Given the description of an element on the screen output the (x, y) to click on. 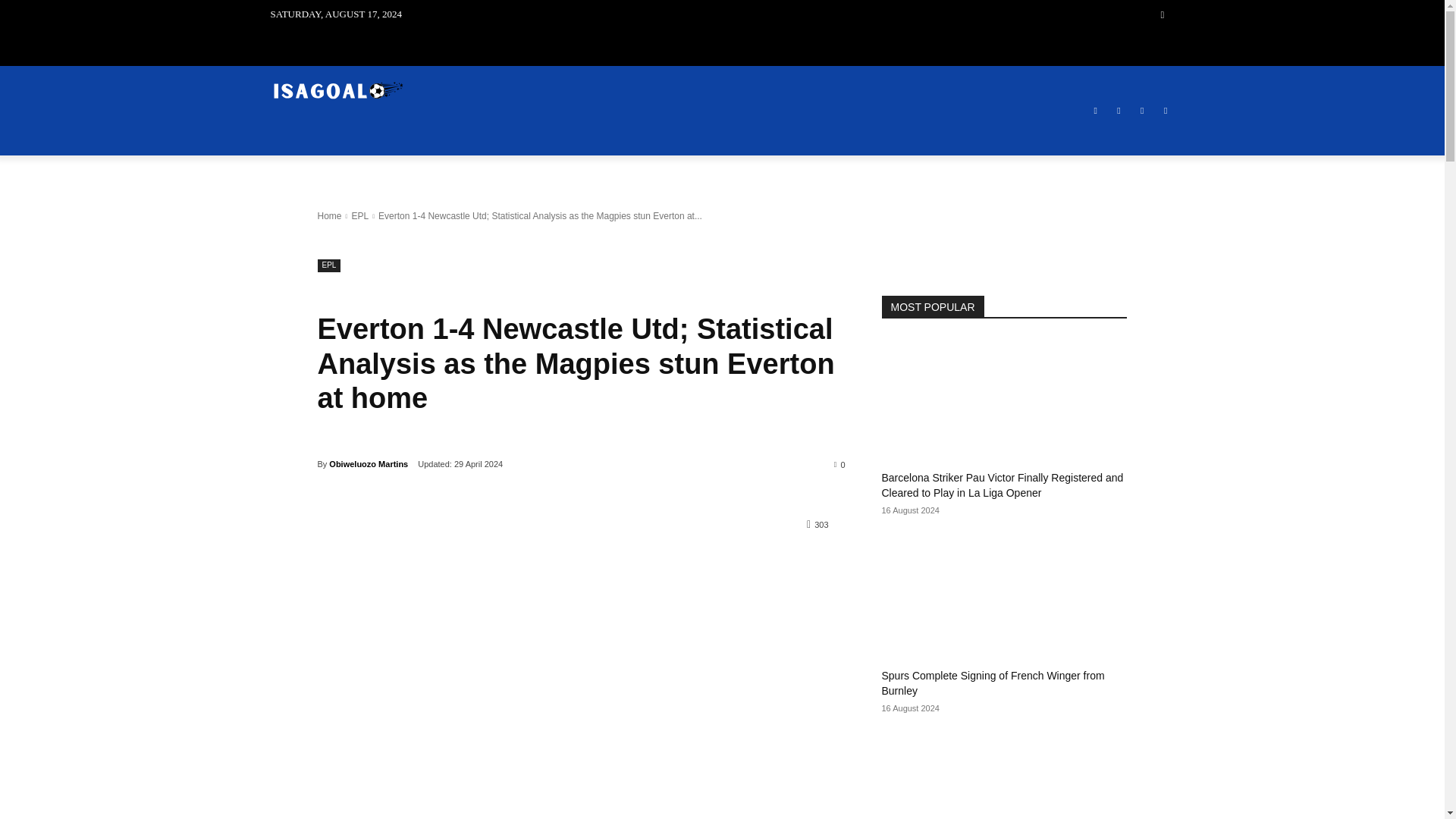
Instagram (1117, 110)
Home (328, 215)
Facebook (1094, 110)
Twitter (1142, 110)
Youtube (1165, 110)
